Given the description of an element on the screen output the (x, y) to click on. 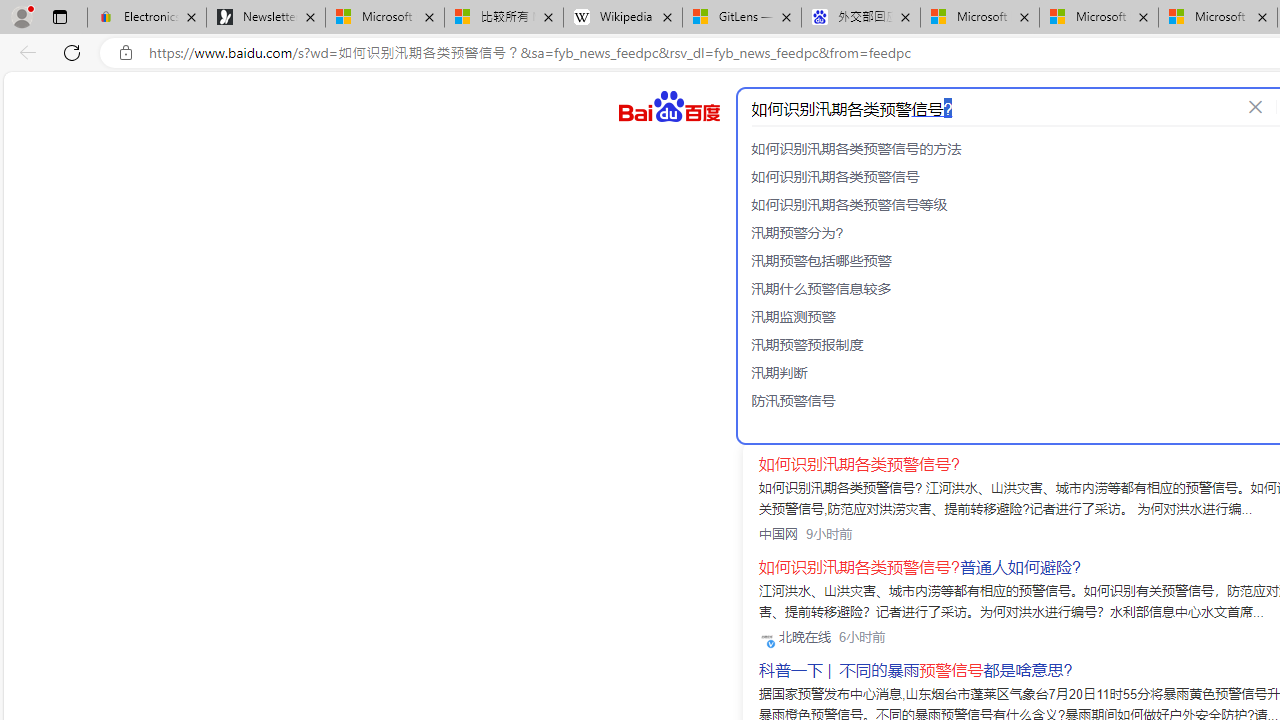
Class: sc-link _link_kwqvb_2 -v-color-primary block (894, 297)
Wikipedia (623, 17)
Electronics, Cars, Fashion, Collectibles & More | eBay (147, 17)
